Given the description of an element on the screen output the (x, y) to click on. 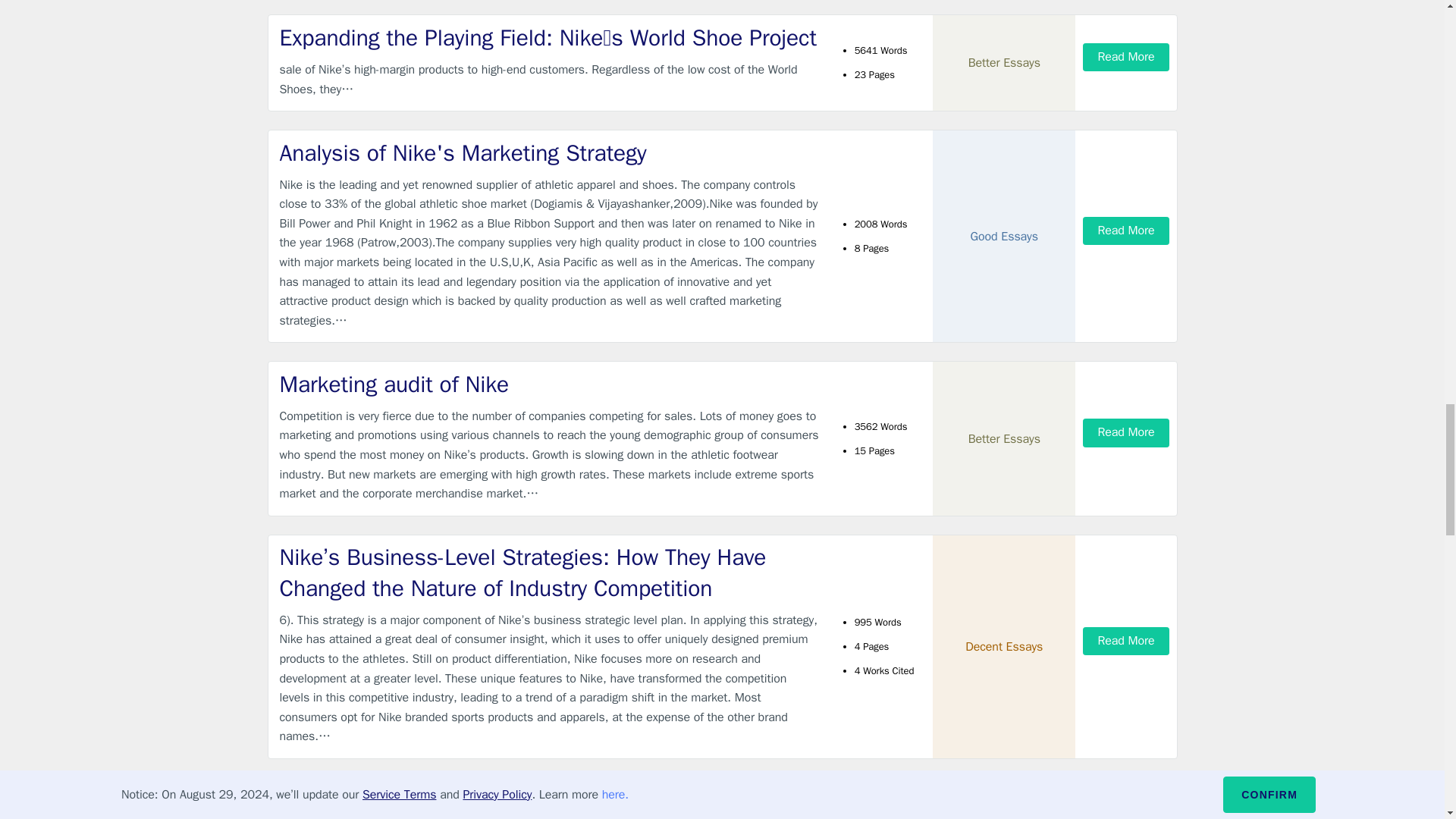
Marketing audit of Nike (548, 384)
Read More (1126, 230)
Read More (1126, 432)
Analysis of Nike's Marketing Strategy (548, 153)
Read More (1126, 57)
